Given the description of an element on the screen output the (x, y) to click on. 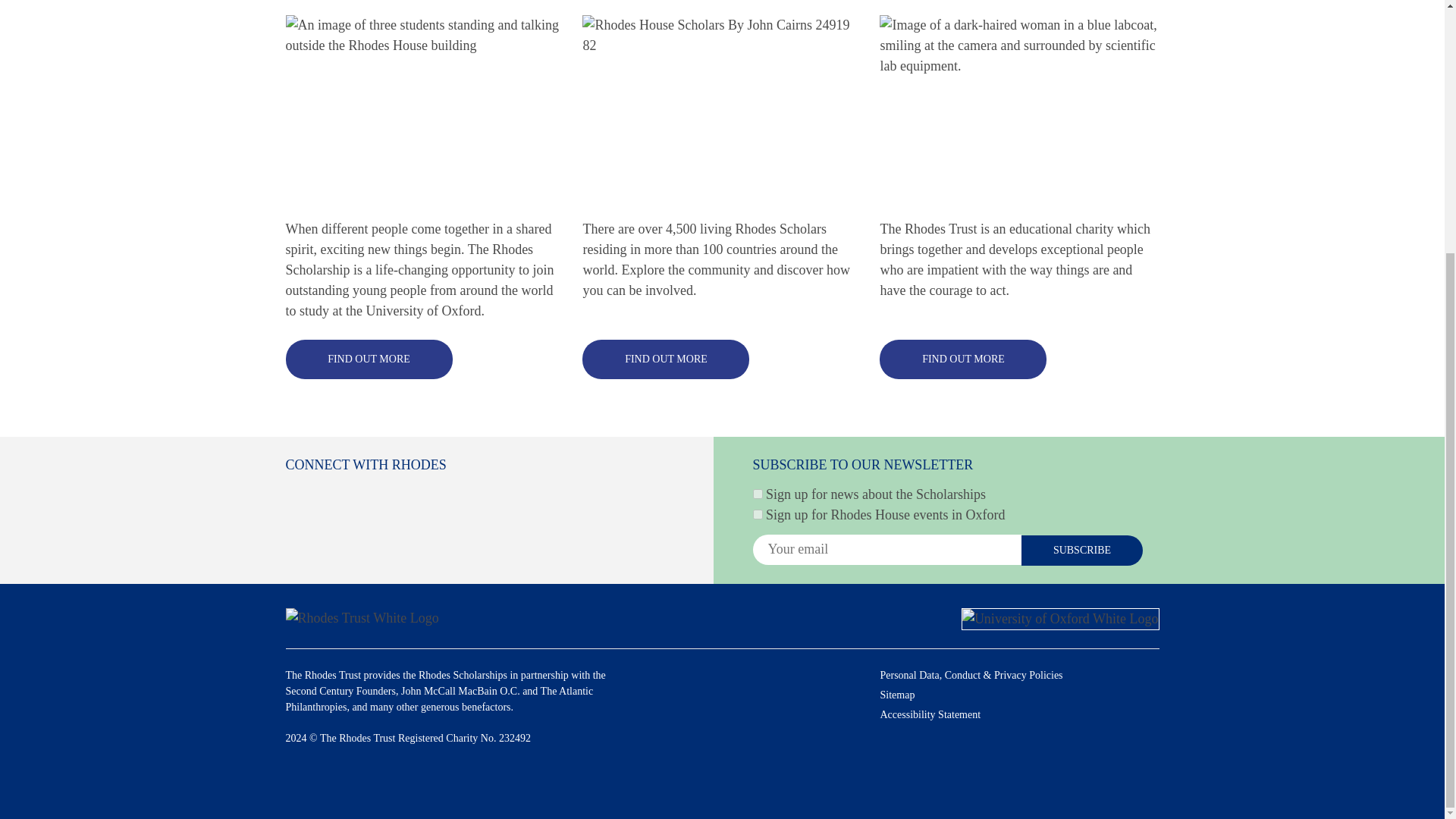
Enter your email address (886, 549)
Visit our Tik Tok page - Opens in a new window (513, 495)
on (756, 514)
on (756, 493)
